Given the description of an element on the screen output the (x, y) to click on. 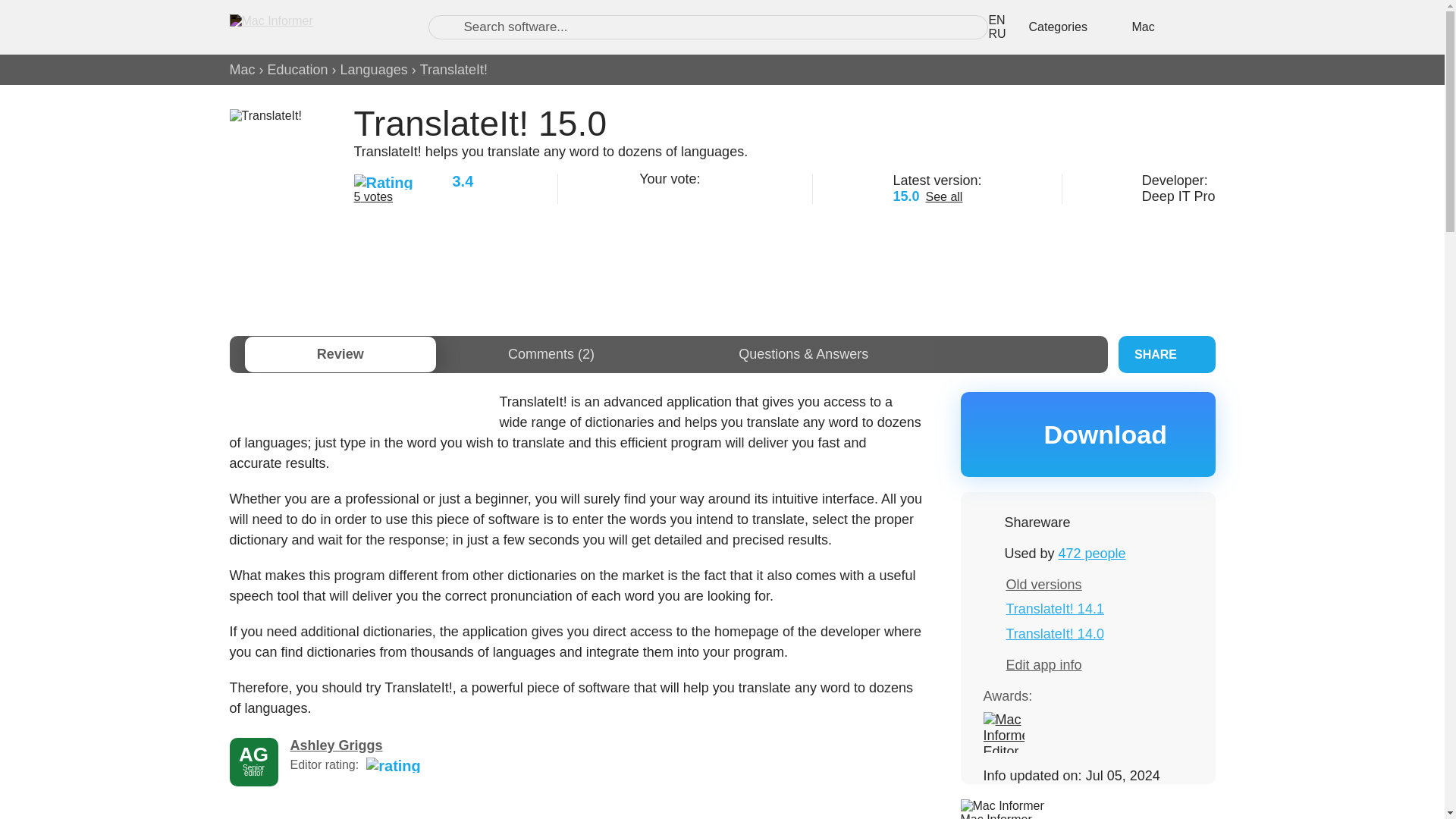
Old versions (1043, 584)
Review (339, 354)
5 votes (373, 196)
Mac Informer (994, 816)
Search (447, 27)
Editors' choice award (1002, 731)
Languages (373, 69)
SHARE (1166, 354)
TranslateIt! 14.0 (1054, 633)
4 (703, 193)
472 people (1091, 553)
3 (684, 193)
Mac (241, 69)
Review (339, 354)
